Given the description of an element on the screen output the (x, y) to click on. 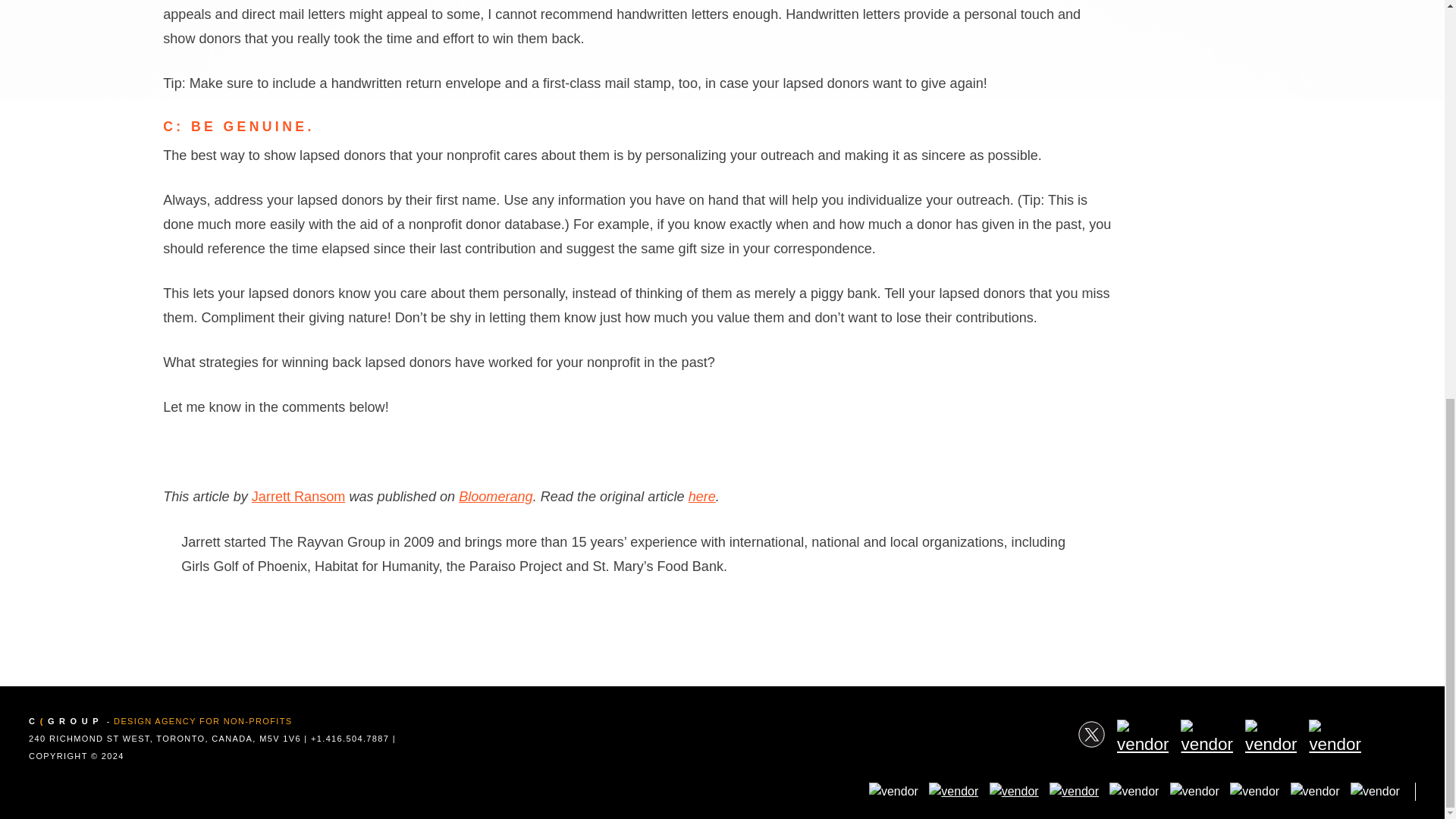
Bloomerang (495, 496)
Jarrett Ransom (298, 496)
here (702, 496)
